Given the description of an element on the screen output the (x, y) to click on. 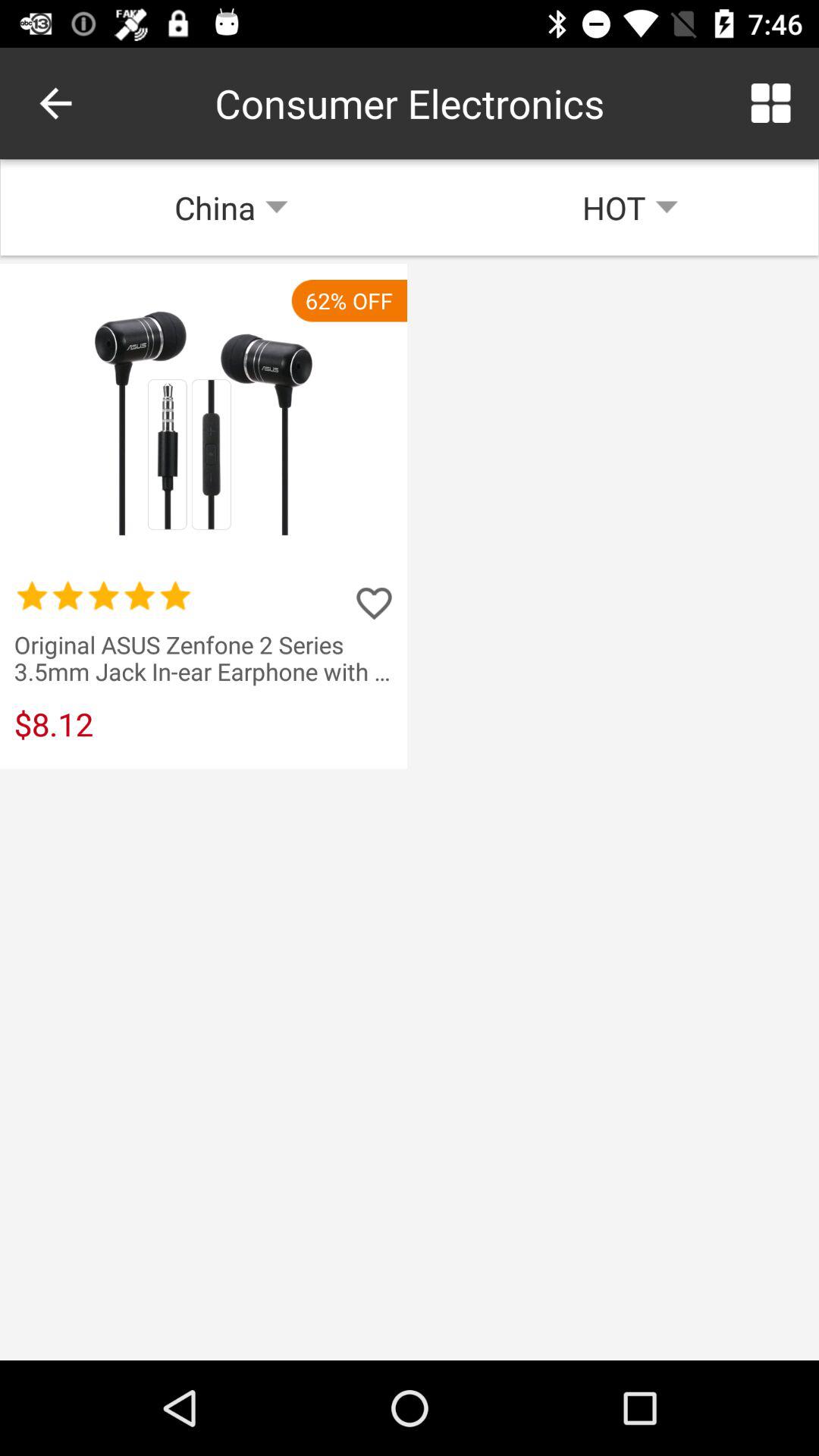
rate the product (374, 603)
